Given the description of an element on the screen output the (x, y) to click on. 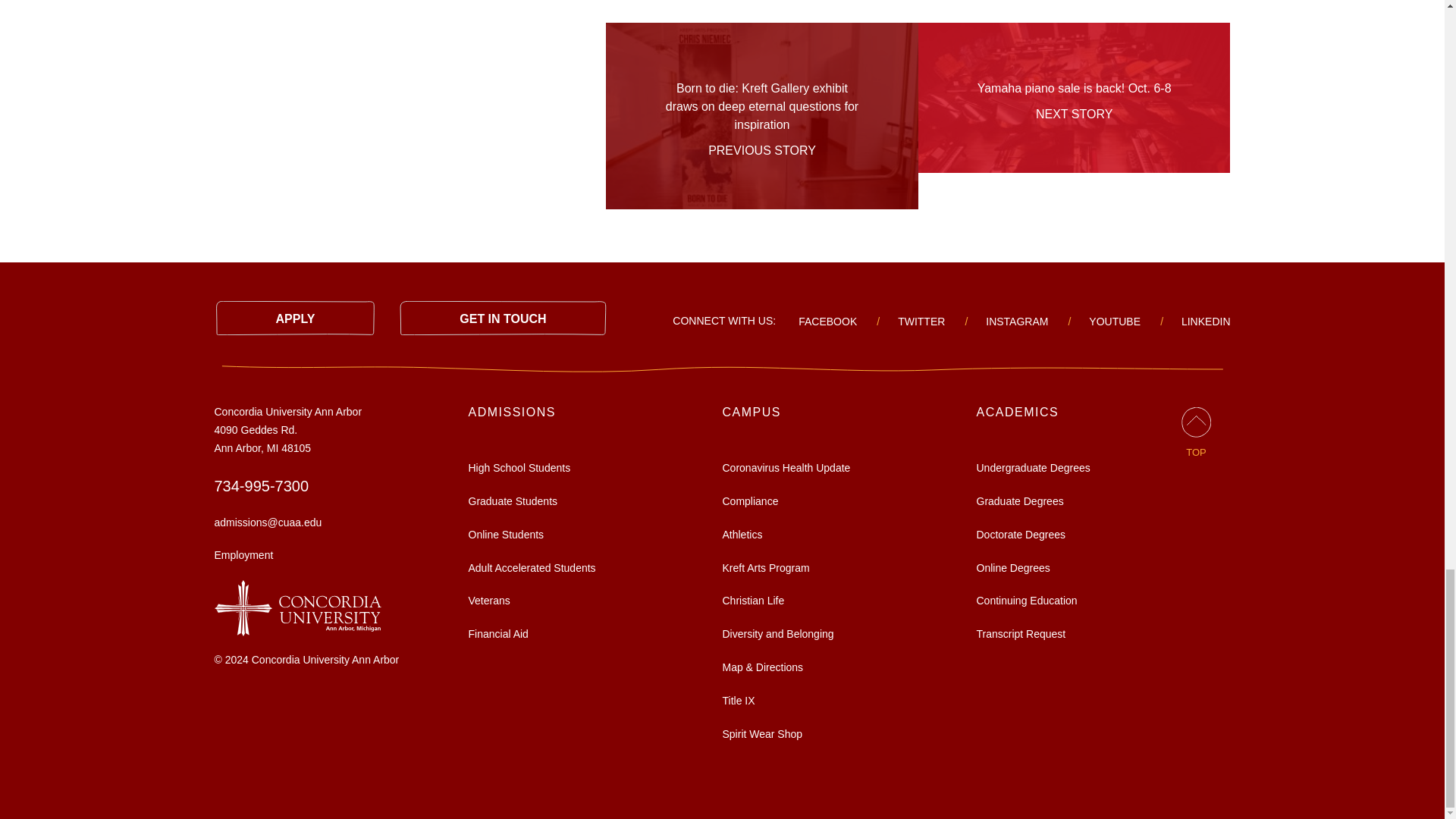
CUAA Home Page (297, 607)
TOP (1195, 433)
Learn more about areas of compliance at CUAA (749, 500)
